Given the description of an element on the screen output the (x, y) to click on. 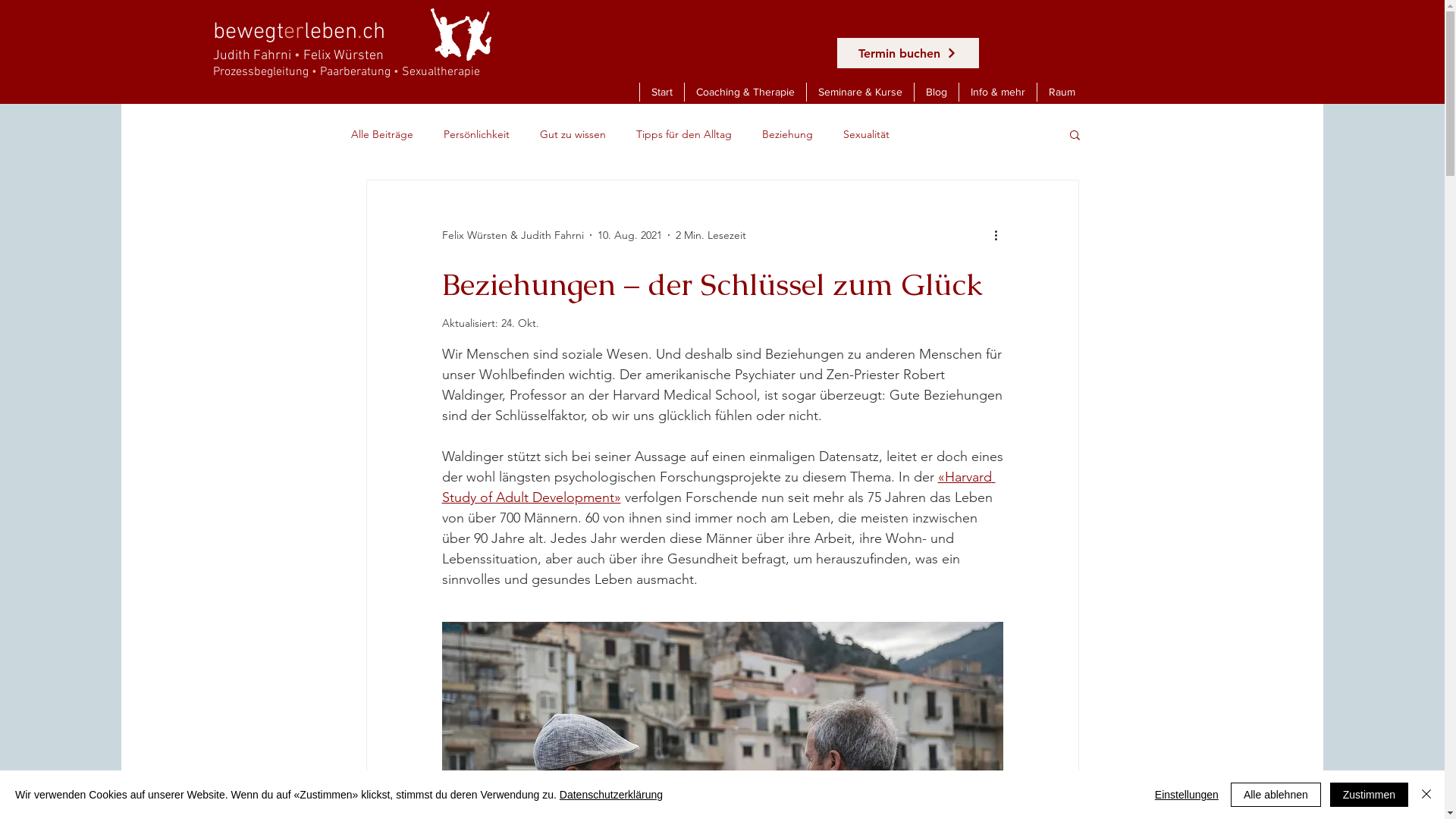
Start Element type: text (660, 91)
Termin buchen Element type: text (908, 52)
Seminare & Kurse Element type: text (859, 91)
Raum Element type: text (1060, 91)
Judith Fahrni Element type: text (252, 55)
bewegterleben.ch Element type: text (299, 29)
Blog Element type: text (935, 91)
Gut zu wissen Element type: text (572, 134)
Alle ablehnen Element type: text (1275, 794)
Beziehung Element type: text (786, 134)
Zustimmen Element type: text (1369, 794)
Coaching & Therapie Element type: text (745, 91)
